Given the description of an element on the screen output the (x, y) to click on. 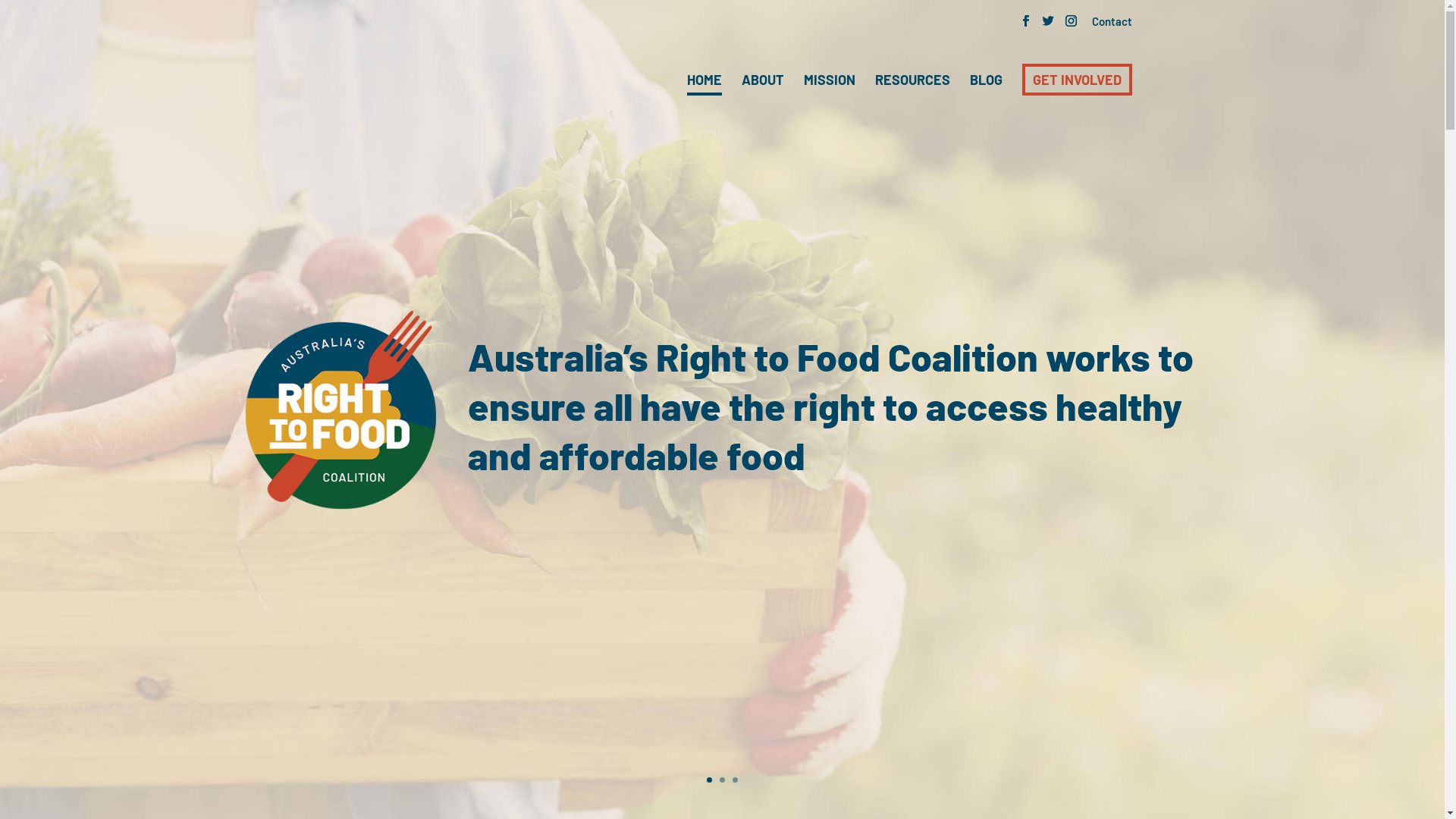
RESOURCES Element type: text (912, 80)
2 Element type: text (721, 779)
BLOG Element type: text (985, 80)
1 Element type: text (709, 779)
3 Element type: text (734, 779)
GET INVOLVED Element type: text (1077, 79)
Contact Element type: text (1112, 22)
HOME Element type: text (704, 80)
ABOUT Element type: text (762, 80)
MISSION Element type: text (829, 80)
